Given the description of an element on the screen output the (x, y) to click on. 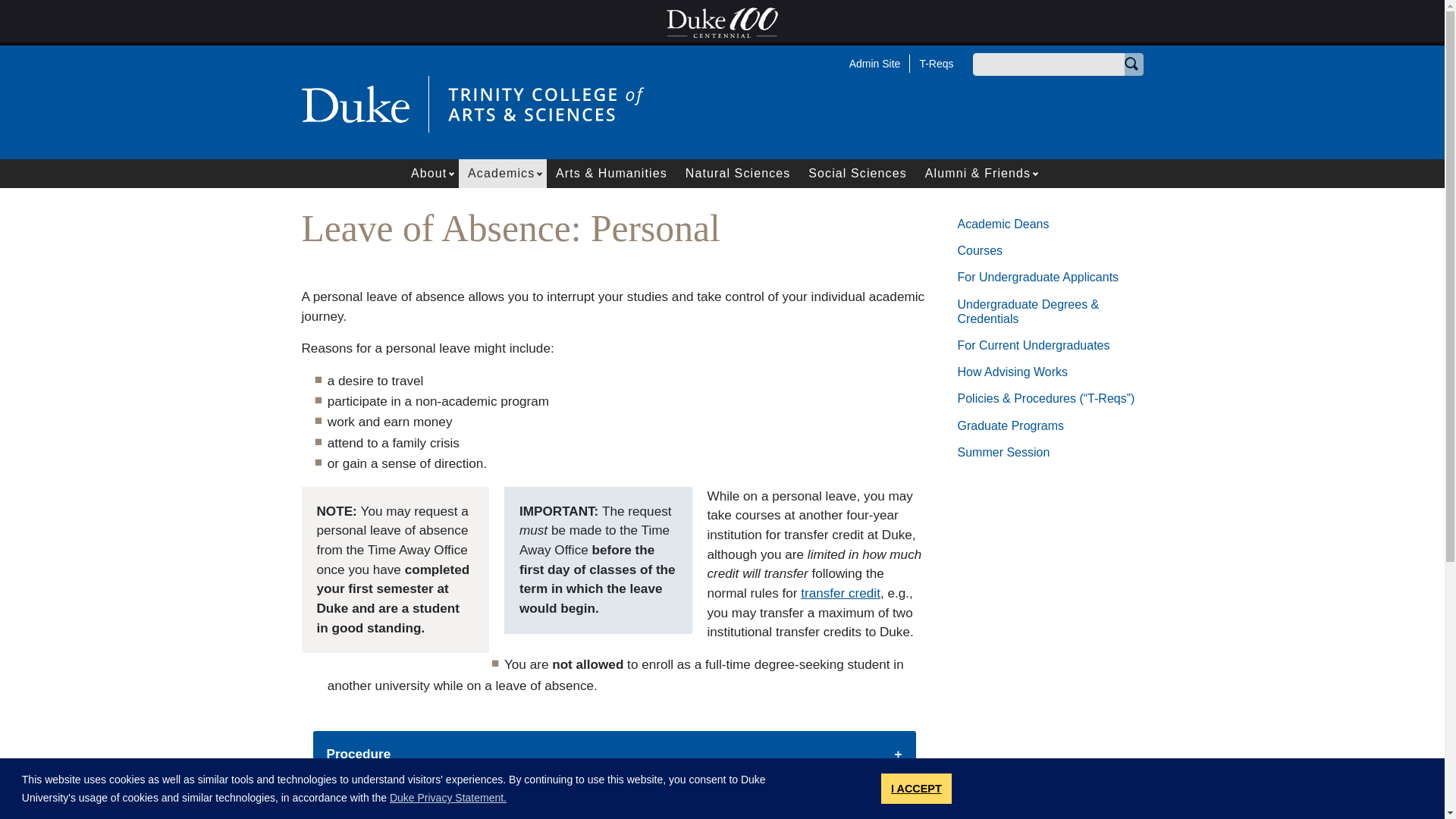
Duke University (355, 103)
Duke Privacy Statement. (448, 797)
I ACCEPT (916, 788)
